Given the description of an element on the screen output the (x, y) to click on. 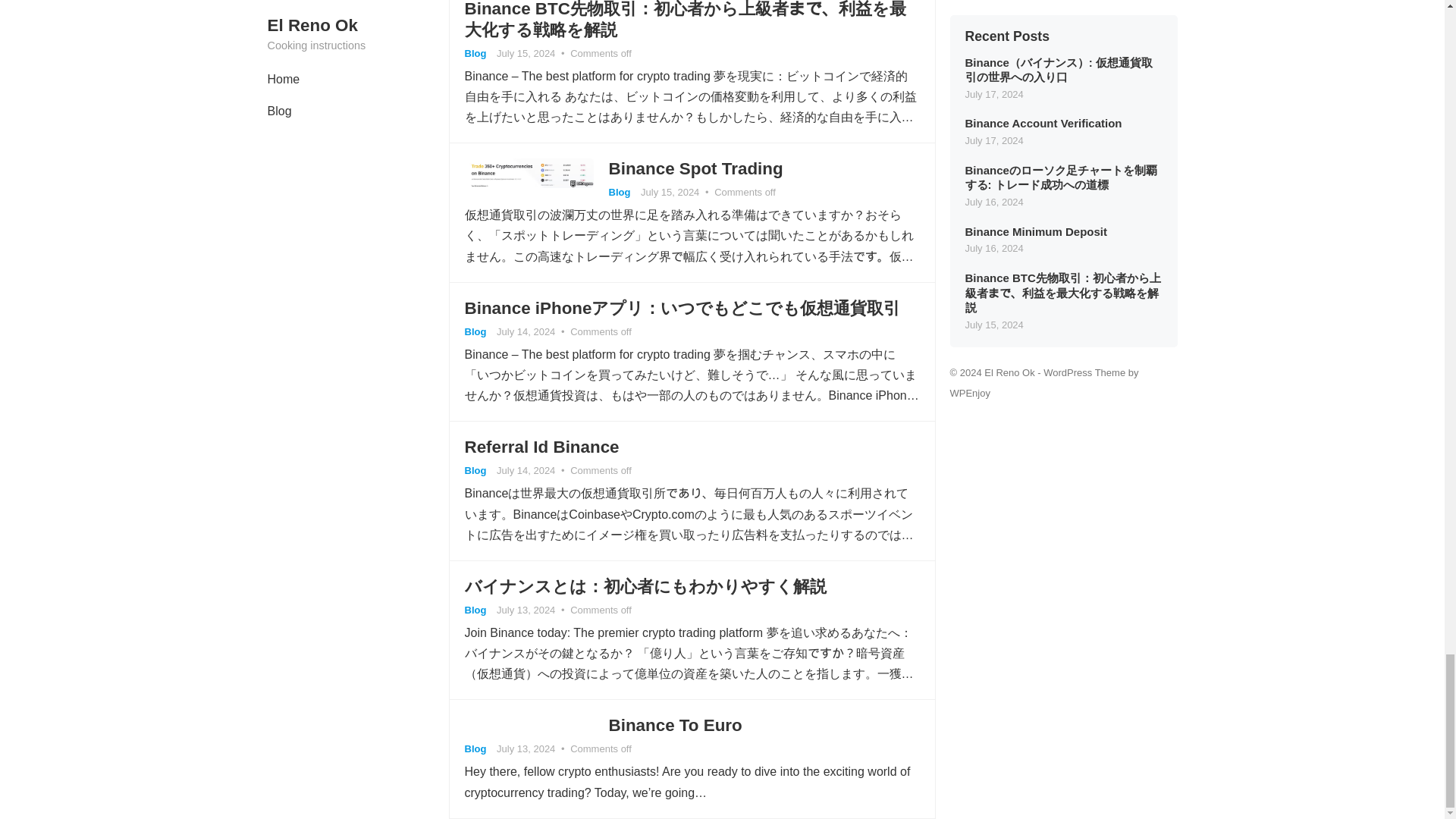
Binance Spot Trading (695, 168)
Binance To Euro (674, 724)
Blog (475, 609)
Referral Id Binance (541, 446)
Blog (475, 52)
Blog (475, 331)
Blog (475, 470)
Blog (619, 192)
